Given the description of an element on the screen output the (x, y) to click on. 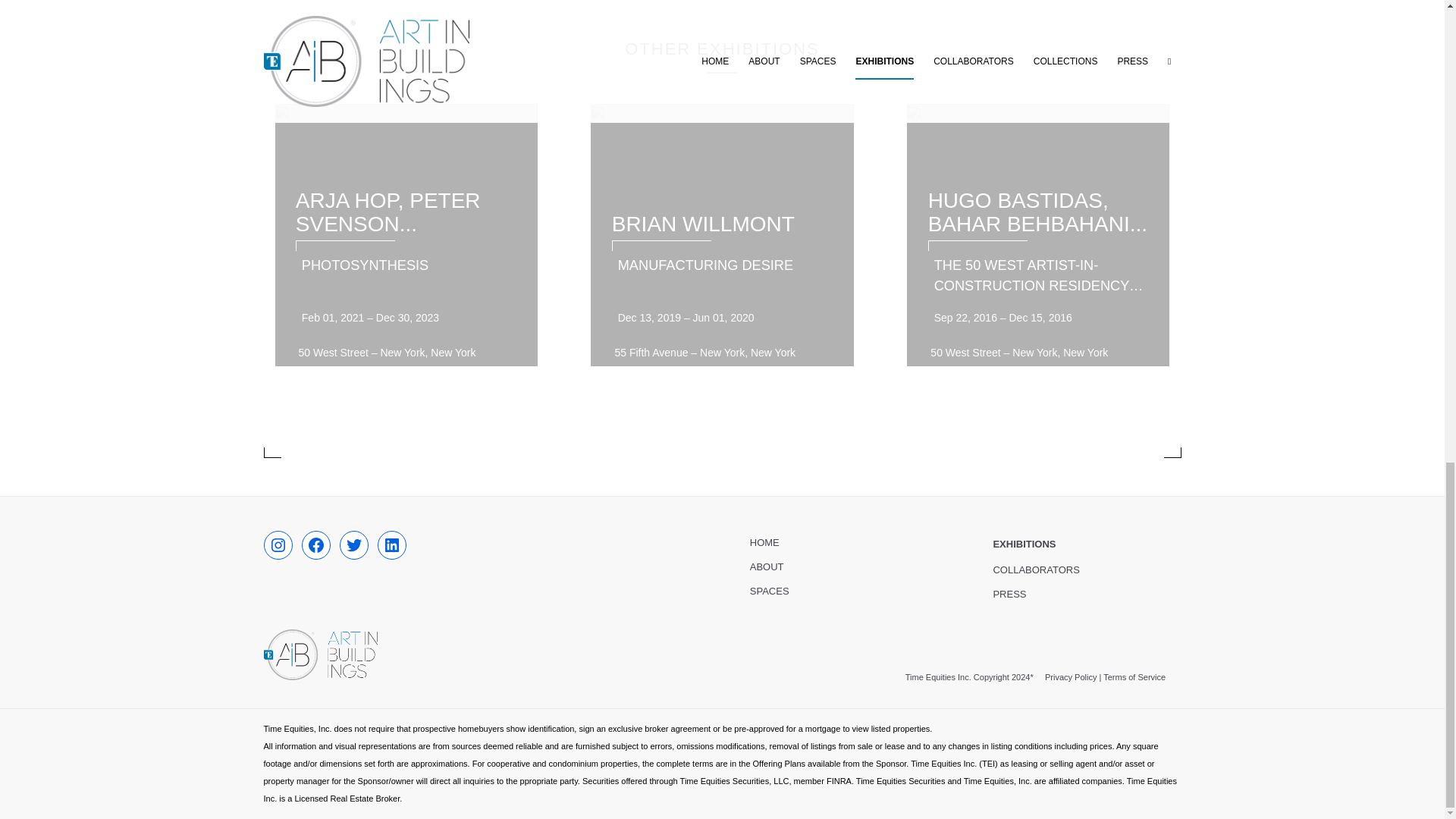
EXHIBITIONS (1086, 543)
Privacy Policy (1070, 676)
LINKEDIN (390, 544)
FACEBOOK (315, 544)
PRESS (1086, 594)
Terms of Service (1134, 676)
ABOUT (843, 567)
COLLABORATORS (1086, 569)
TWITTER (352, 544)
INSTAGRAM (277, 544)
SPACES (843, 591)
HOME (843, 542)
